Given the description of an element on the screen output the (x, y) to click on. 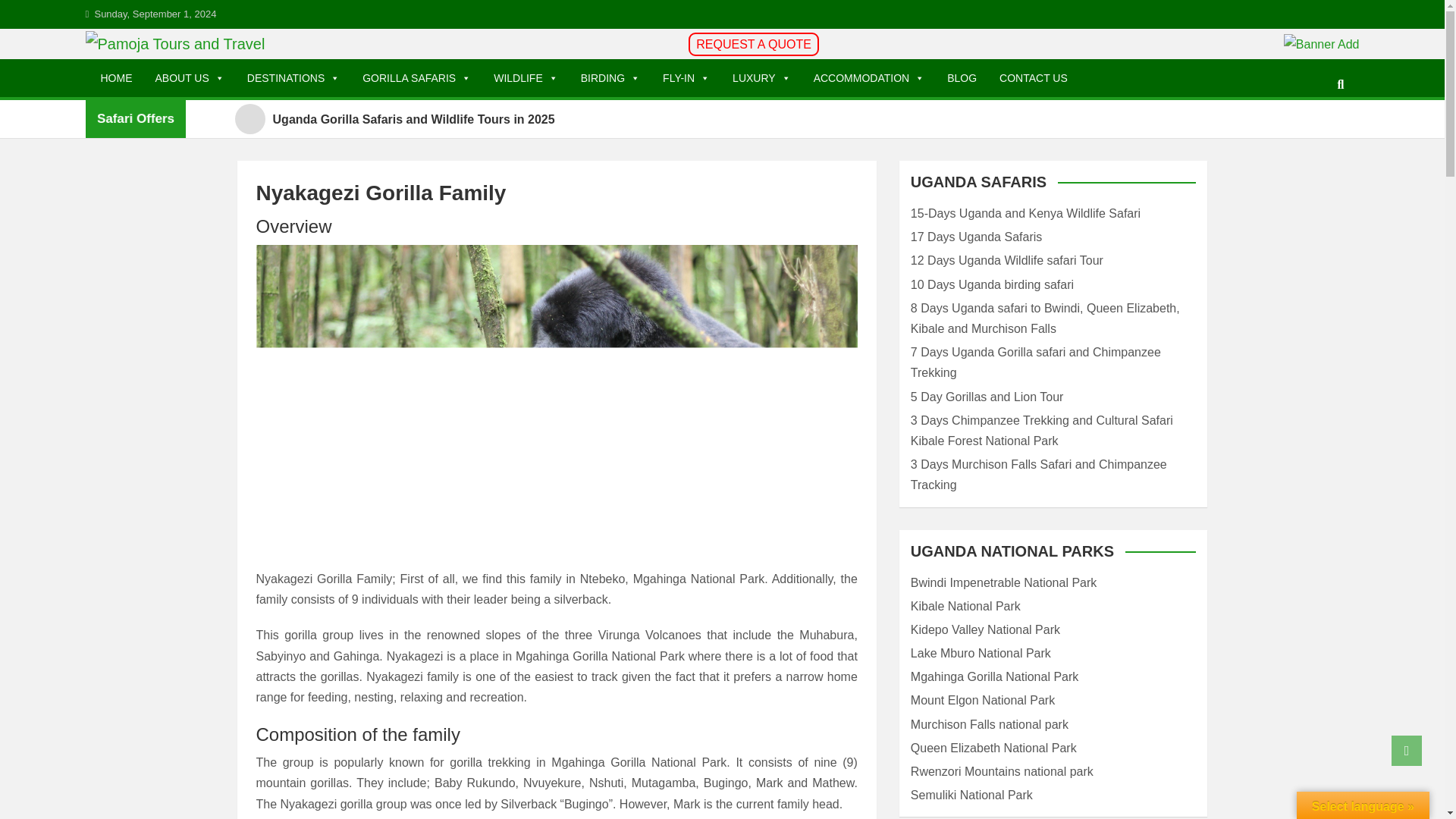
Pamoja Tours and Travel (263, 76)
DESTINATIONS (292, 78)
Go to Top (1406, 750)
HOME (116, 78)
REQUEST A QUOTE (753, 43)
ABOUT US (189, 78)
